Given the description of an element on the screen output the (x, y) to click on. 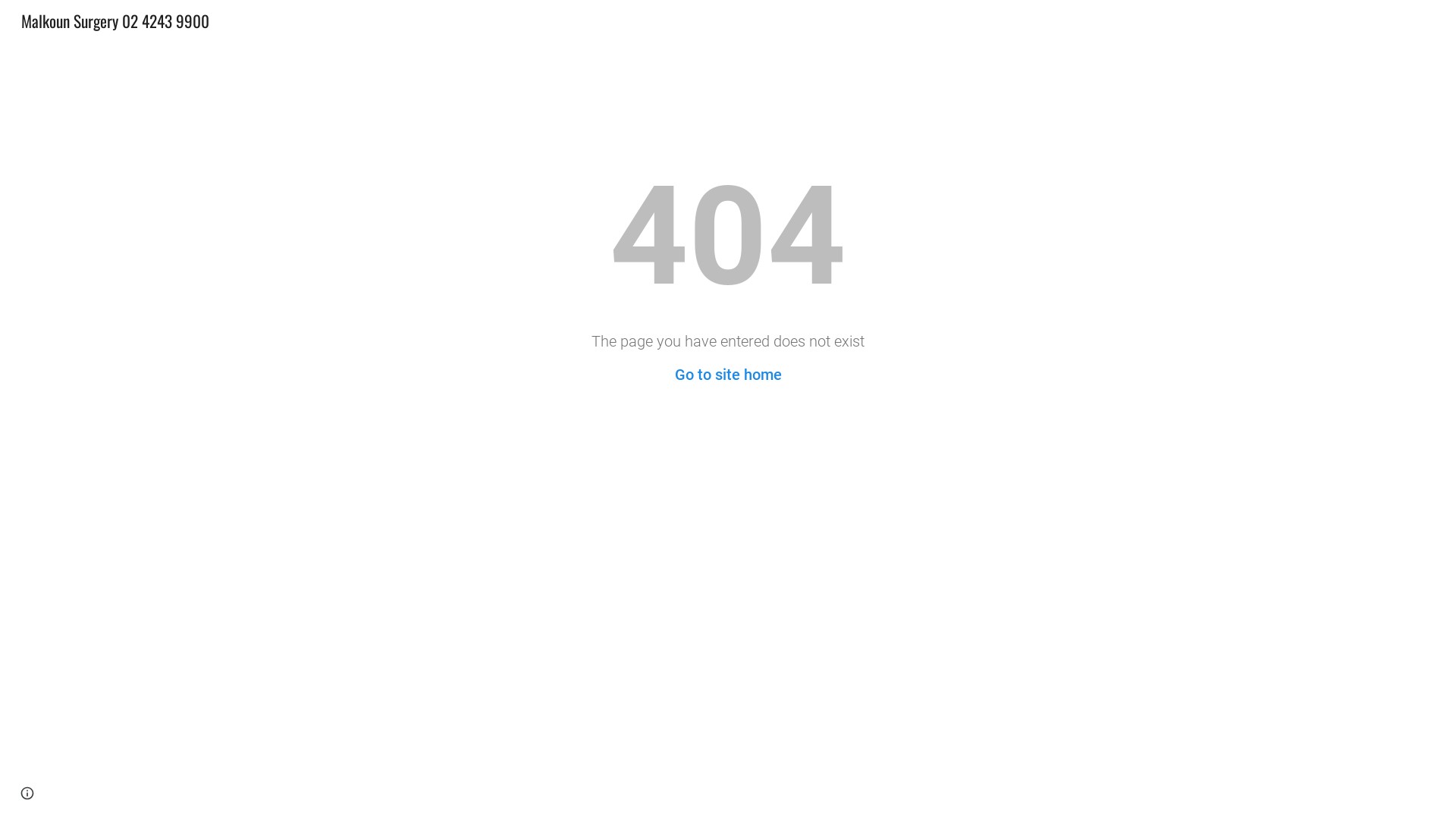
Malkoun Surgery 02 4243 9900 Element type: text (115, 18)
Go to site home Element type: text (727, 374)
